Given the description of an element on the screen output the (x, y) to click on. 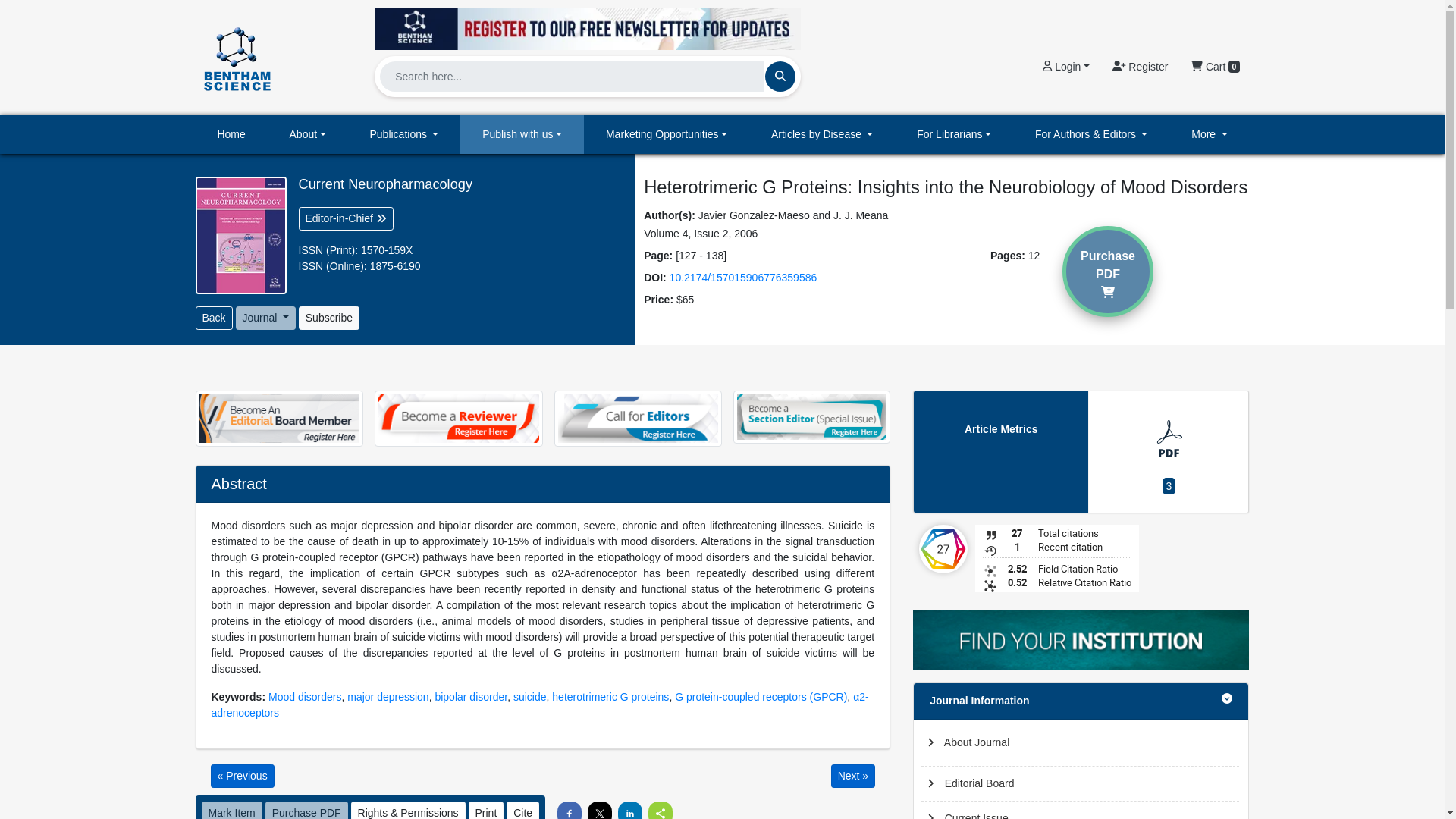
newsletter banner (587, 24)
Home (231, 134)
Cart 0 (1214, 67)
newsletter banner (587, 28)
Register (1139, 67)
Publications (404, 134)
About (307, 134)
Search Button (779, 76)
Login (1065, 67)
